Given the description of an element on the screen output the (x, y) to click on. 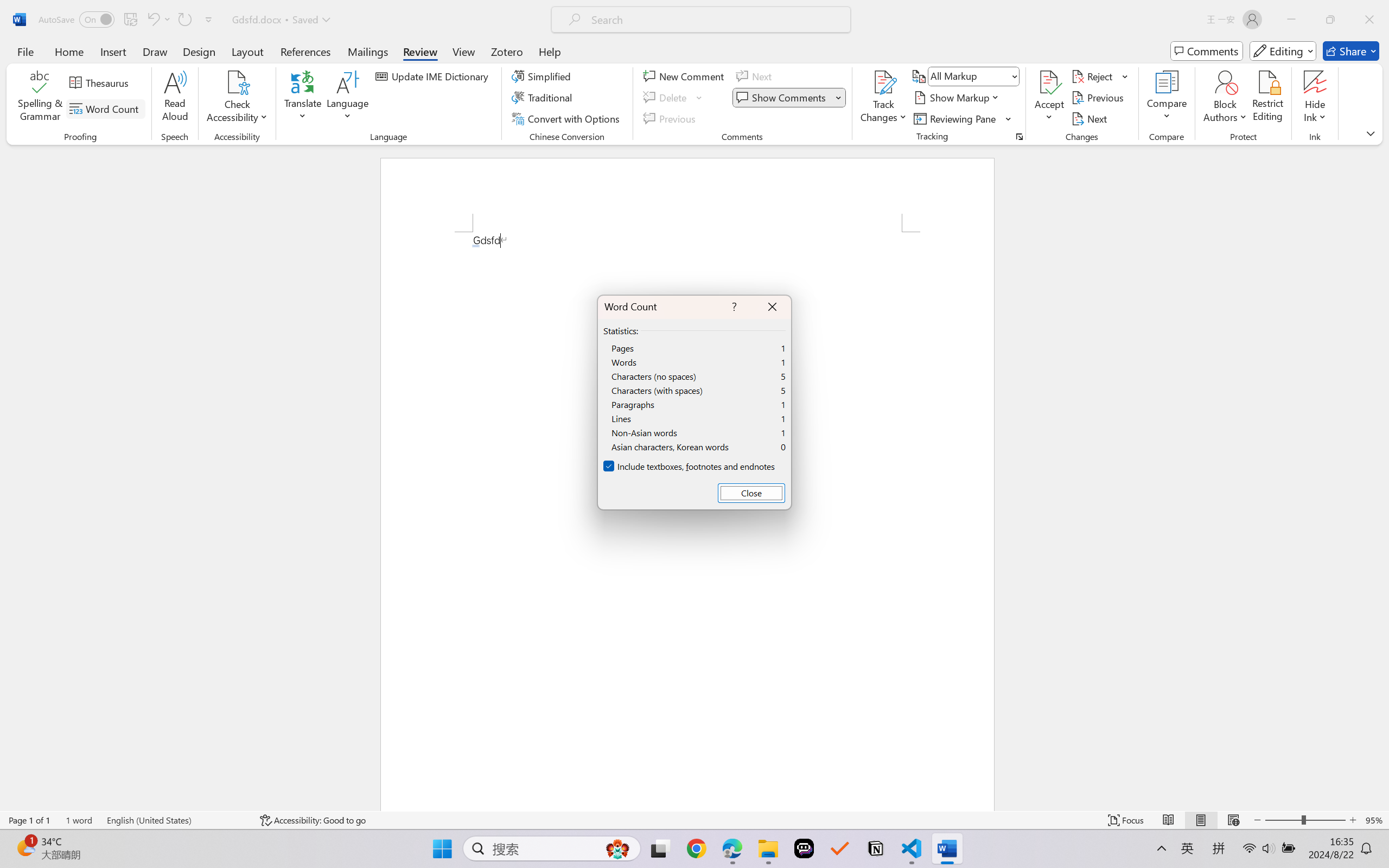
Block Authors (1224, 97)
Can't Repeat (184, 19)
Compare (1166, 97)
Check Accessibility (237, 97)
Reviewing Pane (962, 118)
